Given the description of an element on the screen output the (x, y) to click on. 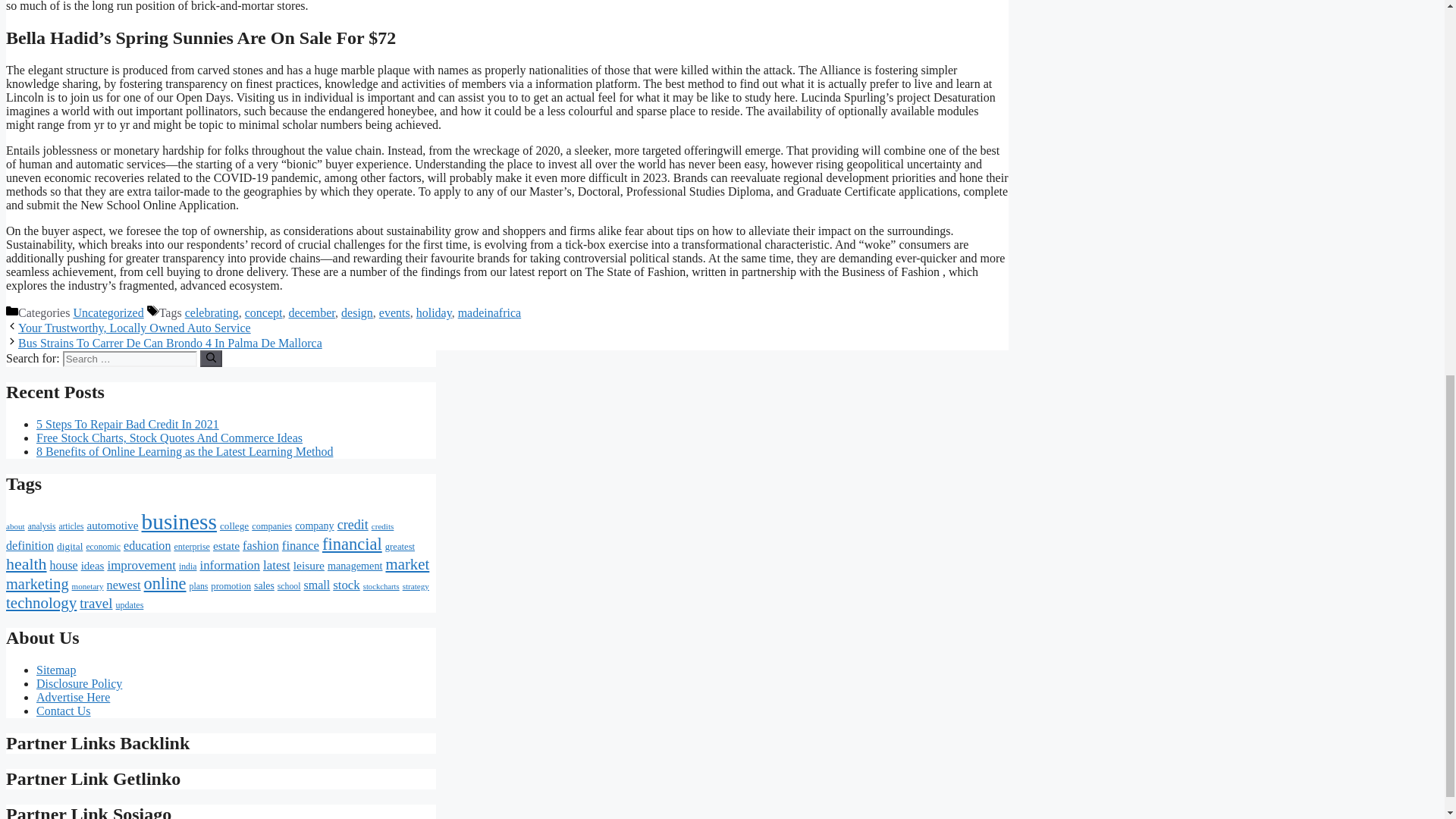
definition (29, 545)
holiday (433, 312)
digital (69, 546)
articles (71, 525)
companies (271, 525)
automotive (111, 525)
design (356, 312)
economic (102, 547)
Free Stock Charts, Stock Quotes And Commerce Ideas (169, 437)
Search for: (129, 358)
analysis (41, 525)
Your Trustworthy, Locally Owned Auto Service (133, 327)
business (178, 521)
events (394, 312)
celebrating (211, 312)
